Given the description of an element on the screen output the (x, y) to click on. 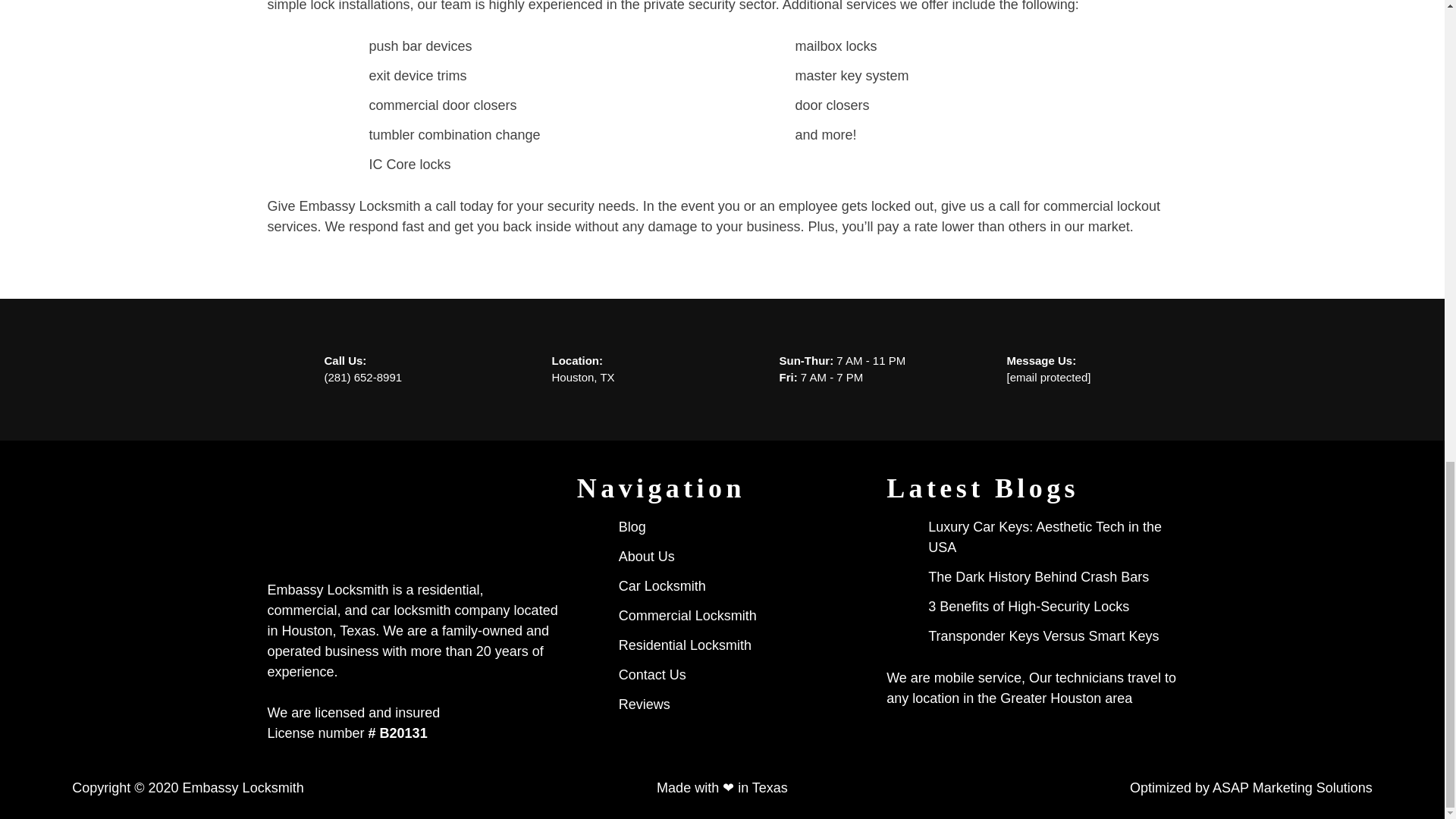
Houston, TX (582, 377)
Location: (577, 359)
About Us (646, 557)
Commercial Locksmith (687, 616)
Residential Locksmith (684, 645)
ASAP Marketing Solutions (1292, 787)
Reviews (643, 704)
Luxury Car Keys: Aesthetic Tech in the USA (1052, 536)
The Dark History Behind Crash Bars (1038, 577)
3 Benefits of High-Security Locks (1028, 607)
